Given the description of an element on the screen output the (x, y) to click on. 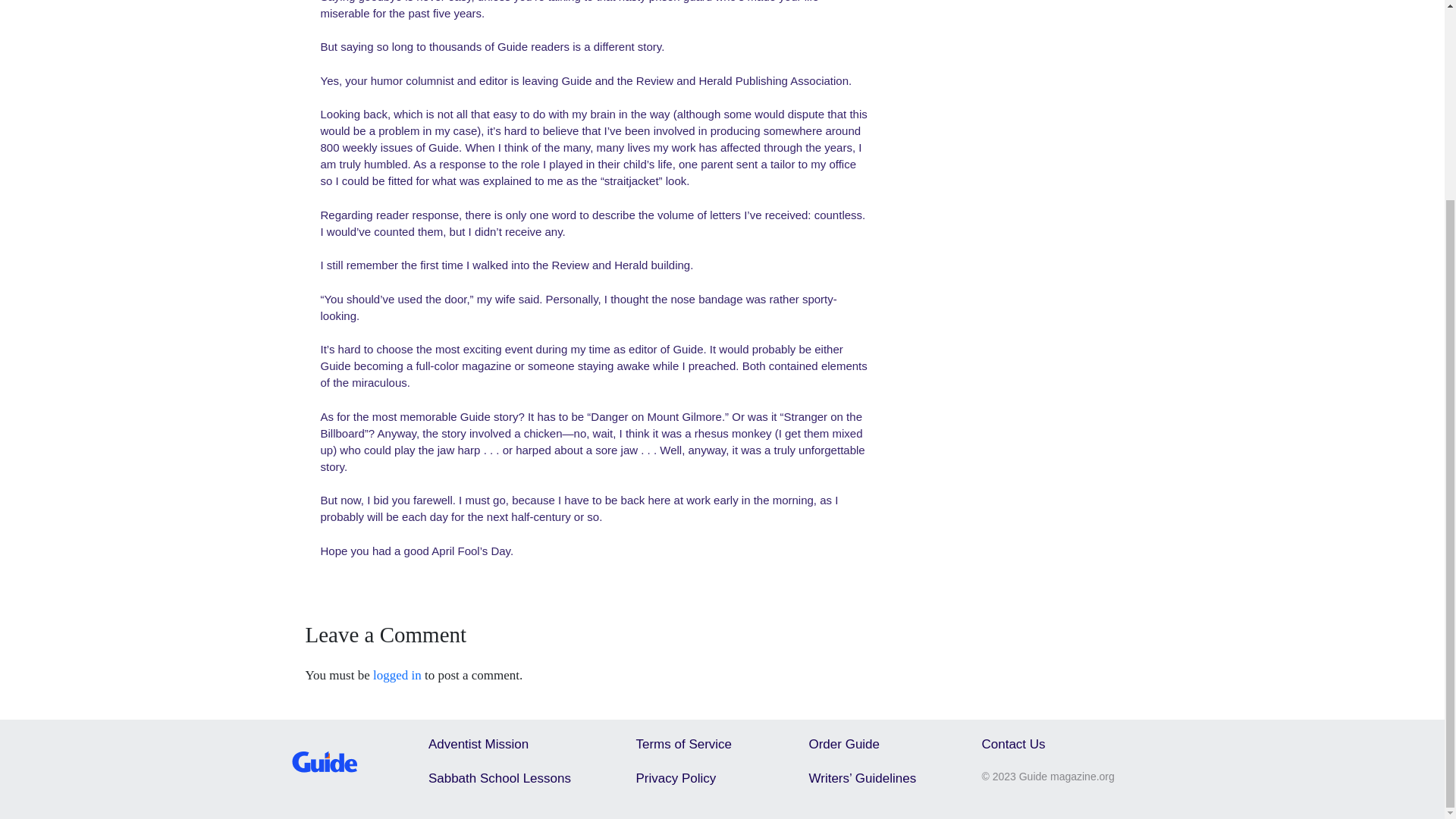
Privacy Policy (675, 778)
Adventist Mission (478, 744)
Sabbath School Lessons (499, 778)
Terms of Service (683, 744)
logged in (397, 675)
